Given the description of an element on the screen output the (x, y) to click on. 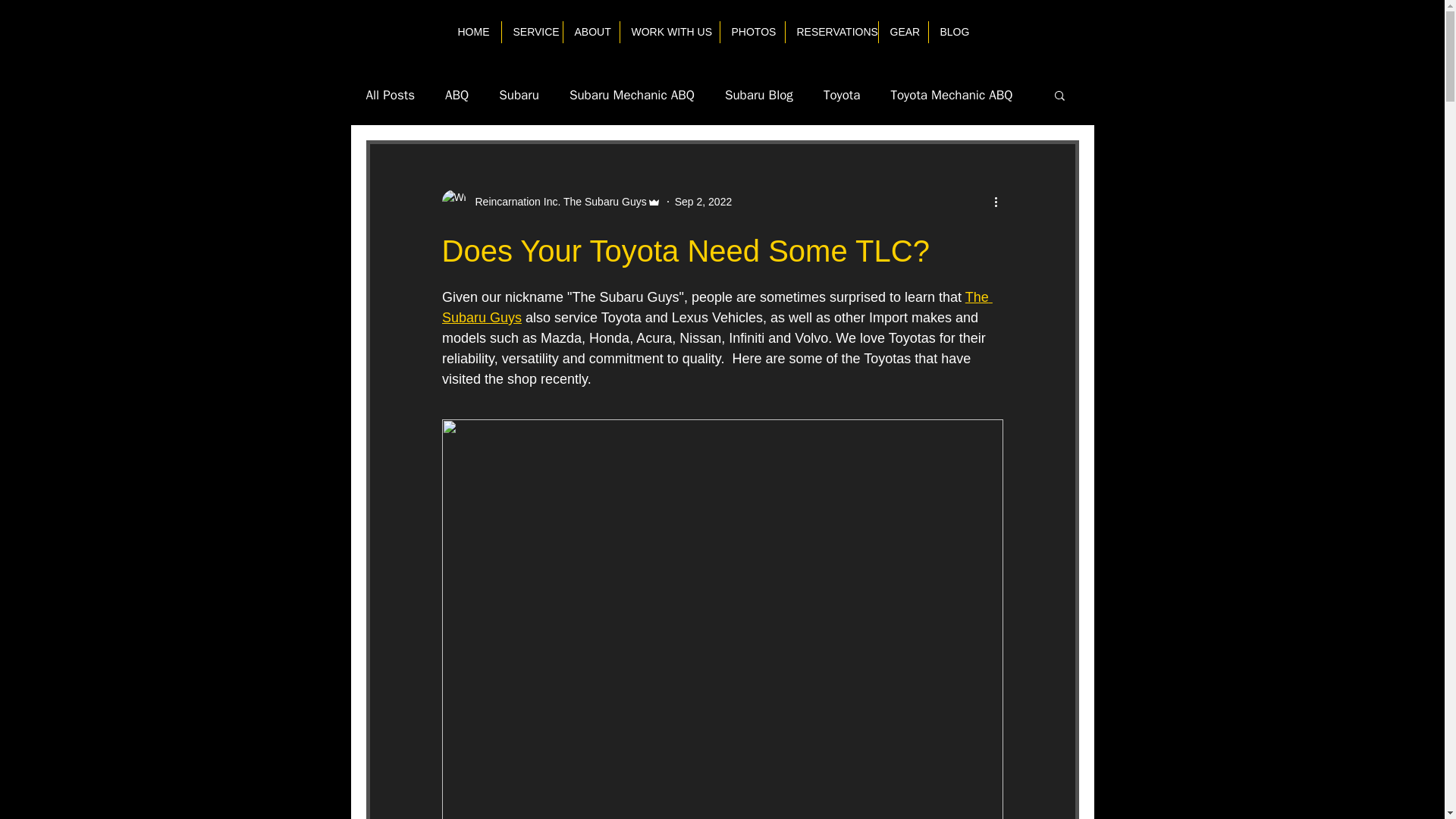
All Posts (389, 95)
ABOUT (590, 32)
Reincarnation Inc. The Subaru Guys (551, 201)
Subaru Mechanic ABQ (631, 95)
Subaru Blog (759, 95)
Reincarnation Inc. The Subaru Guys (555, 201)
SERVICE (532, 32)
PHOTOS (752, 32)
Sep 2, 2022 (703, 201)
WORK WITH US (669, 32)
RESERVATIONS (831, 32)
BLOG (953, 32)
GEAR (902, 32)
Toyota Mechanic ABQ (950, 95)
Subaru (518, 95)
